Given the description of an element on the screen output the (x, y) to click on. 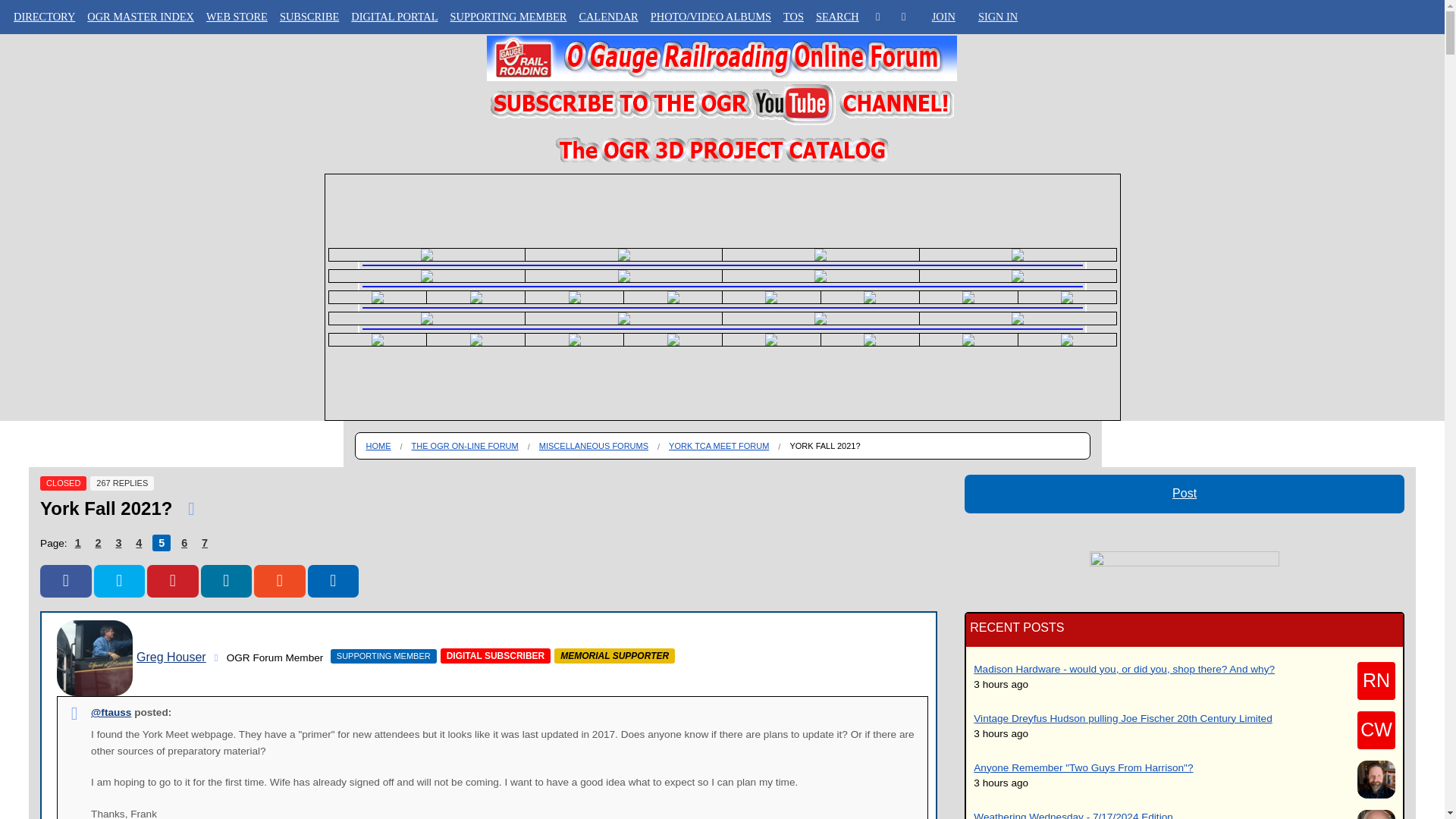
RN (1375, 680)
Greg Houser (94, 657)
DIRECTORY (44, 50)
TRAIN FORUMS (44, 138)
ALL TOPICS (44, 80)
DIRECTORY (44, 17)
OGR VIDEOS (44, 109)
LAYOUT BUILDING FORUMS (44, 168)
CW (1375, 730)
